Given the description of an element on the screen output the (x, y) to click on. 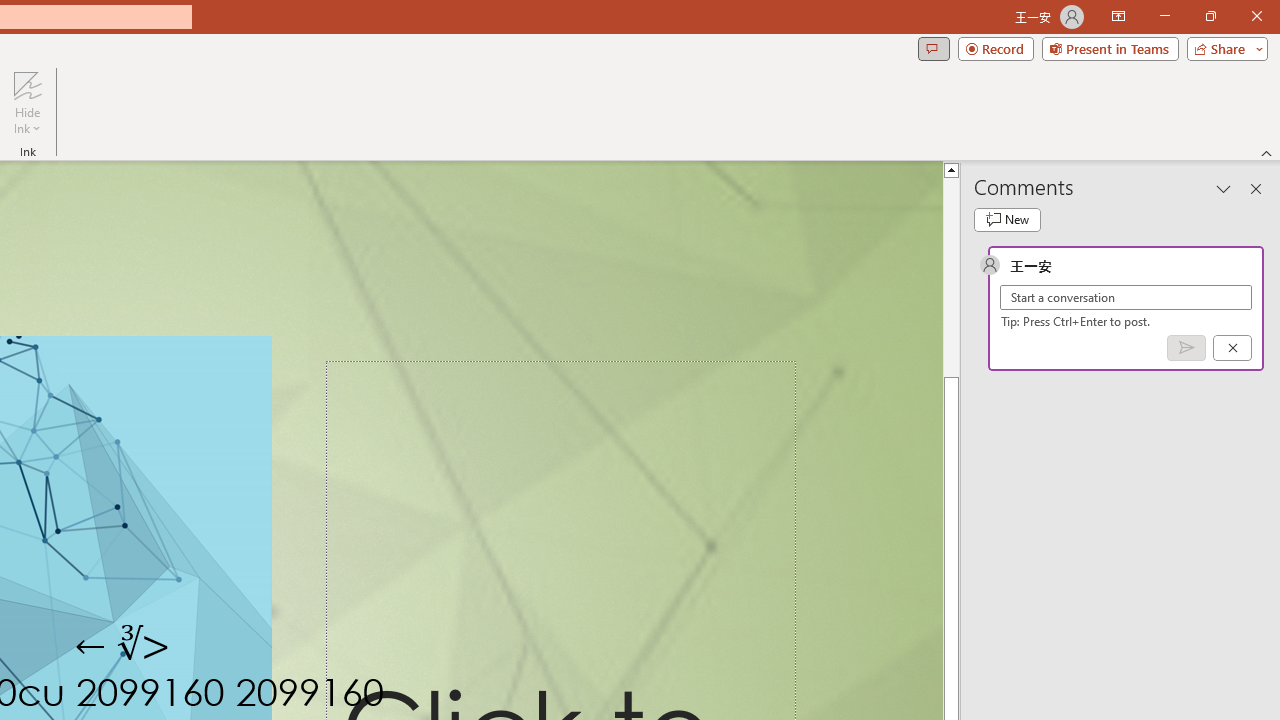
Start a conversation (1126, 297)
New comment (1007, 219)
Hide Ink (27, 102)
